Given the description of an element on the screen output the (x, y) to click on. 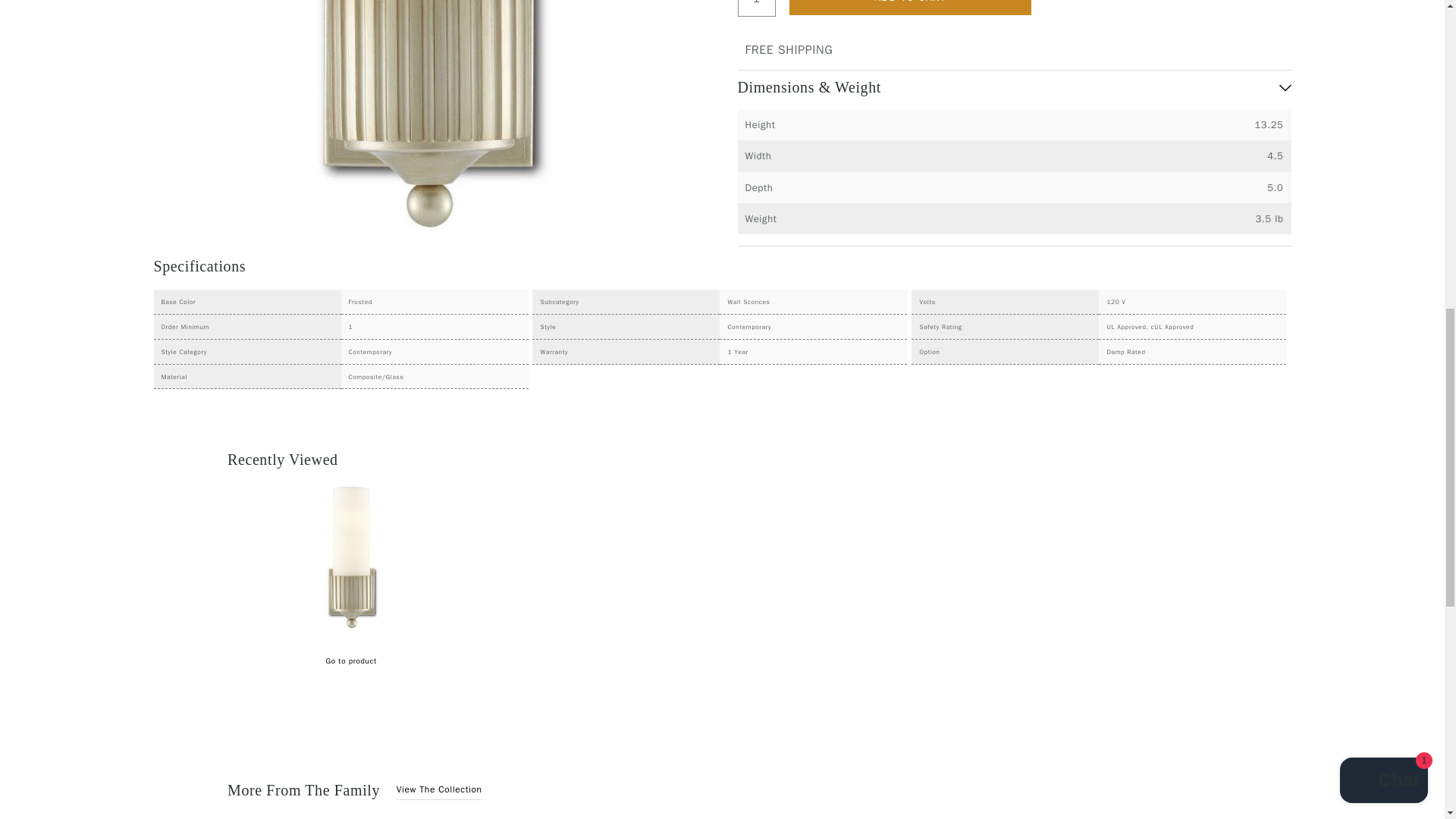
1 (755, 2)
